Given the description of an element on the screen output the (x, y) to click on. 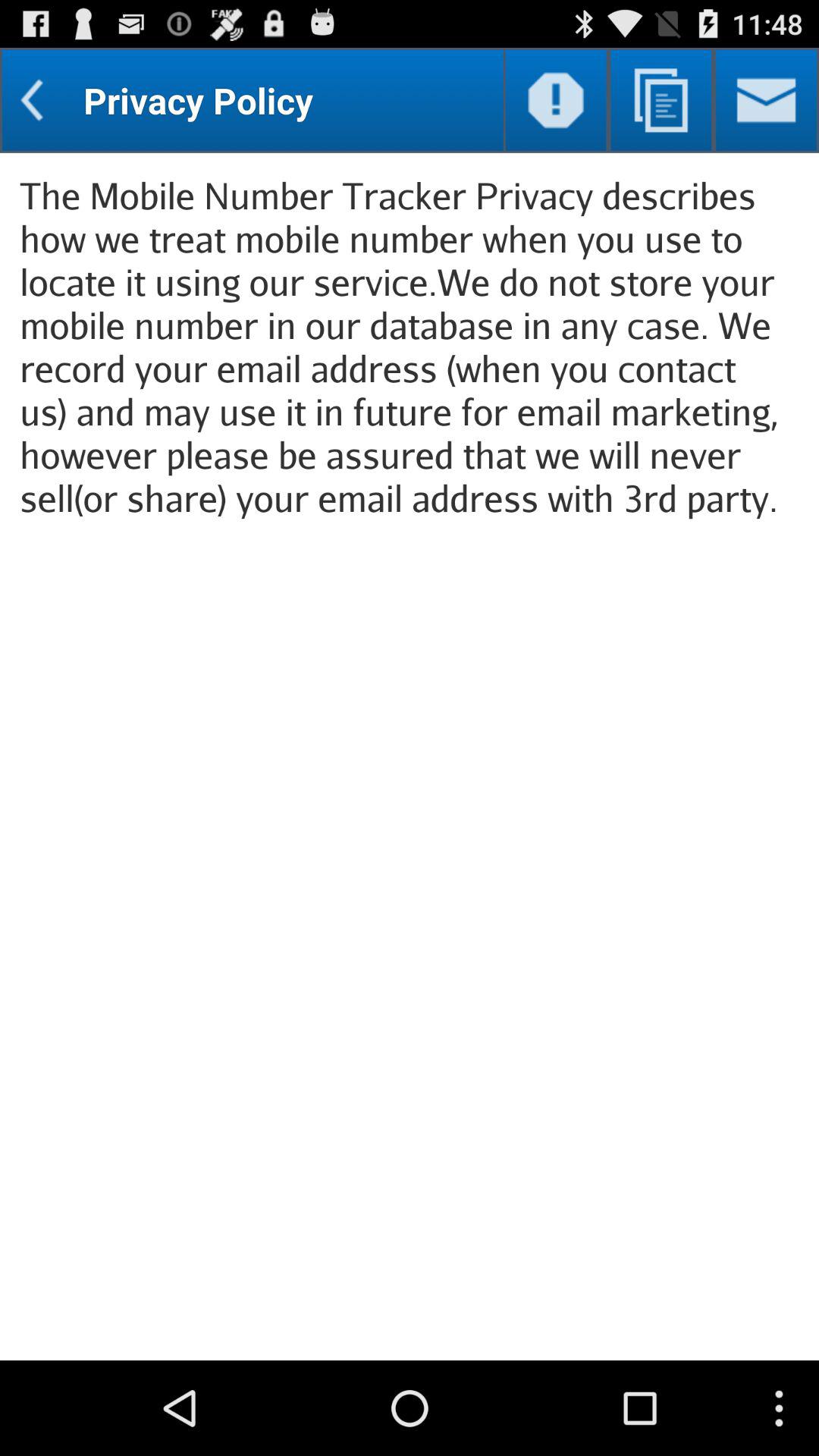
copy text (660, 99)
